Given the description of an element on the screen output the (x, y) to click on. 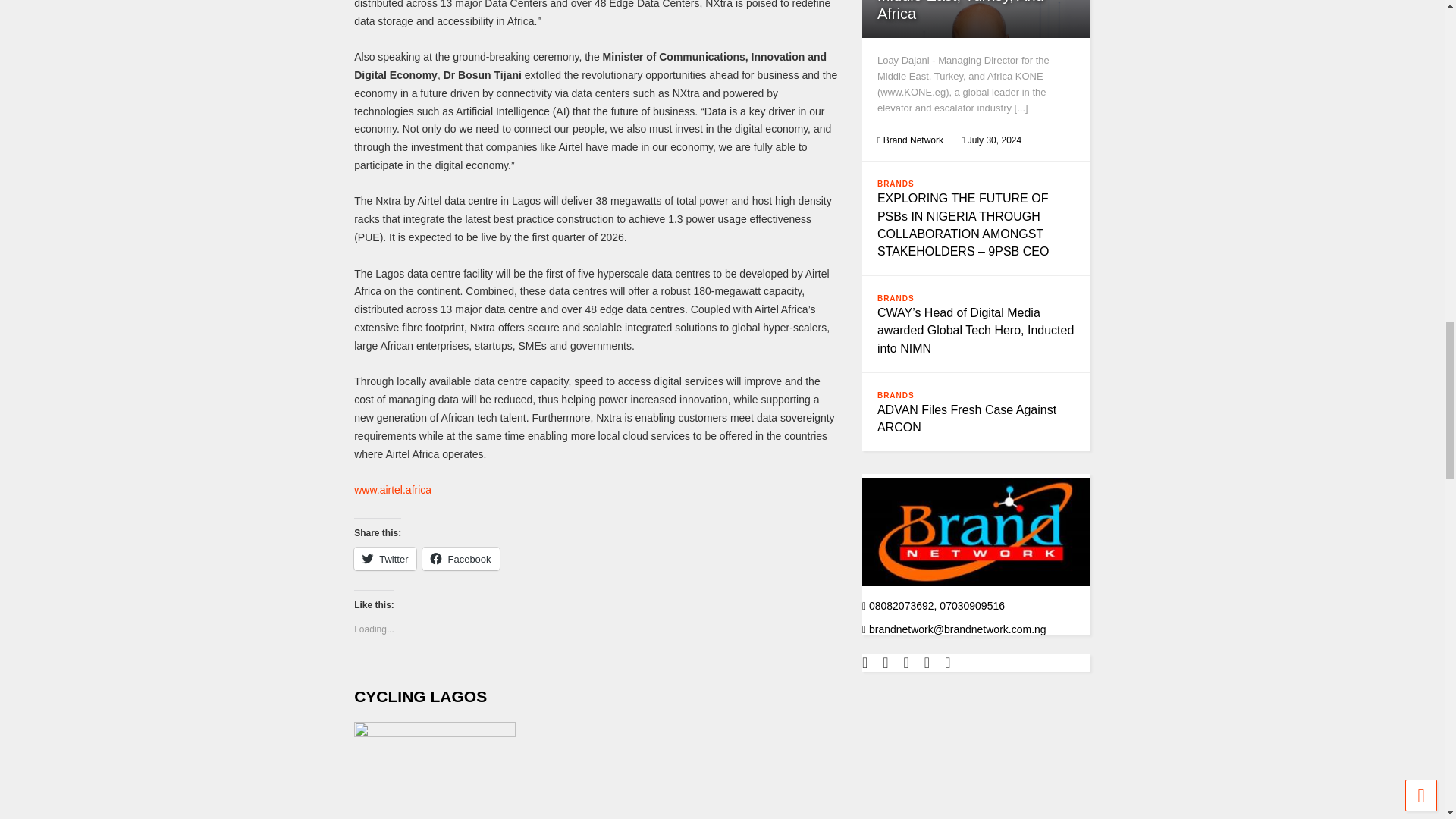
www.airtel.africa (391, 490)
Facebook (460, 558)
Click to share on Twitter (384, 558)
Twitter (384, 558)
Click to share on Facebook (460, 558)
